Given the description of an element on the screen output the (x, y) to click on. 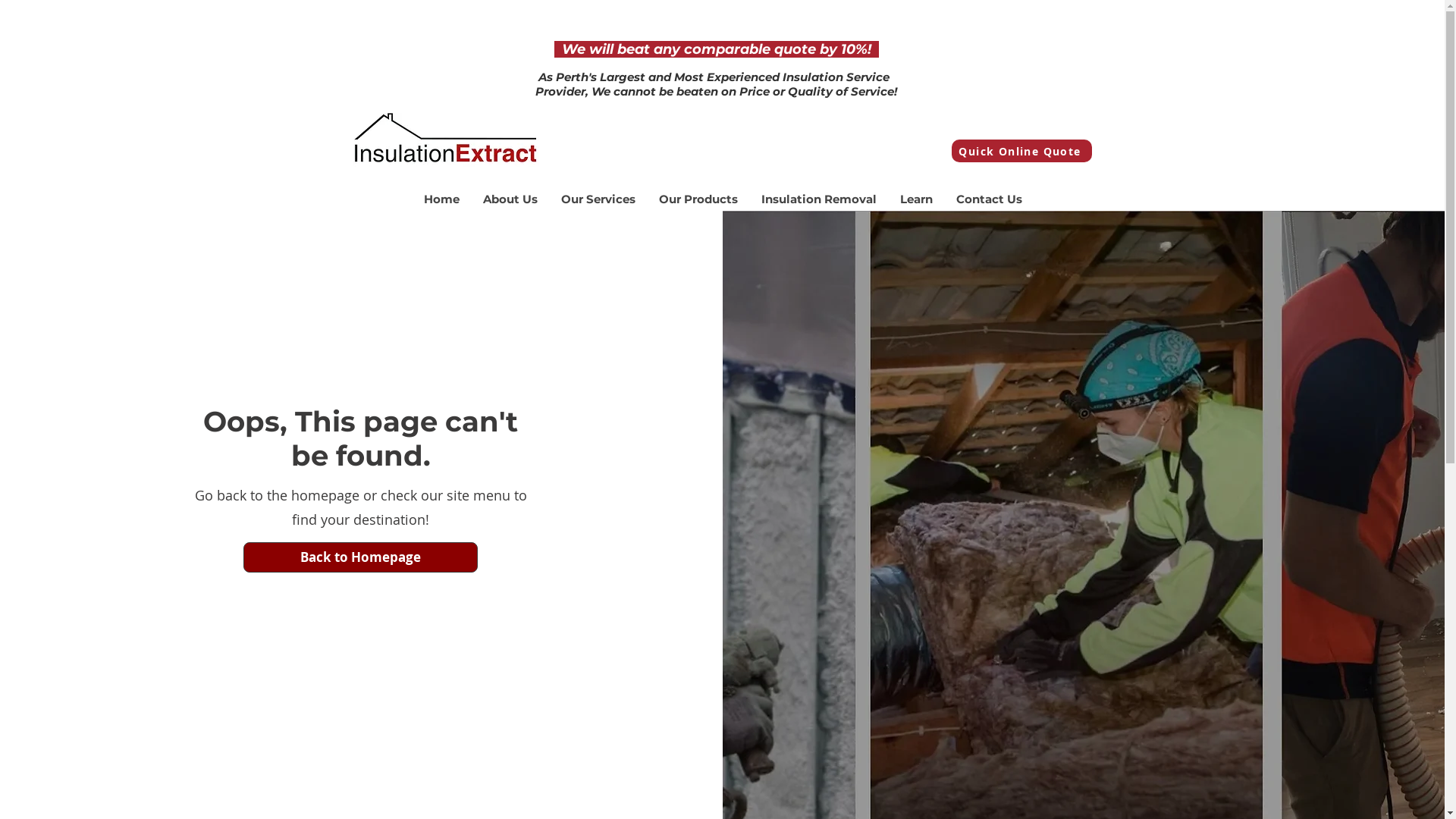
Contact Us Element type: text (987, 199)
Our Products Element type: text (697, 199)
Back to Homepage Element type: text (360, 557)
Learn Element type: text (915, 199)
Home Element type: text (440, 199)
Our Services Element type: text (597, 199)
Insulation Removal Element type: text (818, 199)
Quick Online Quote Element type: text (1020, 150)
About Us Element type: text (509, 199)
